Given the description of an element on the screen output the (x, y) to click on. 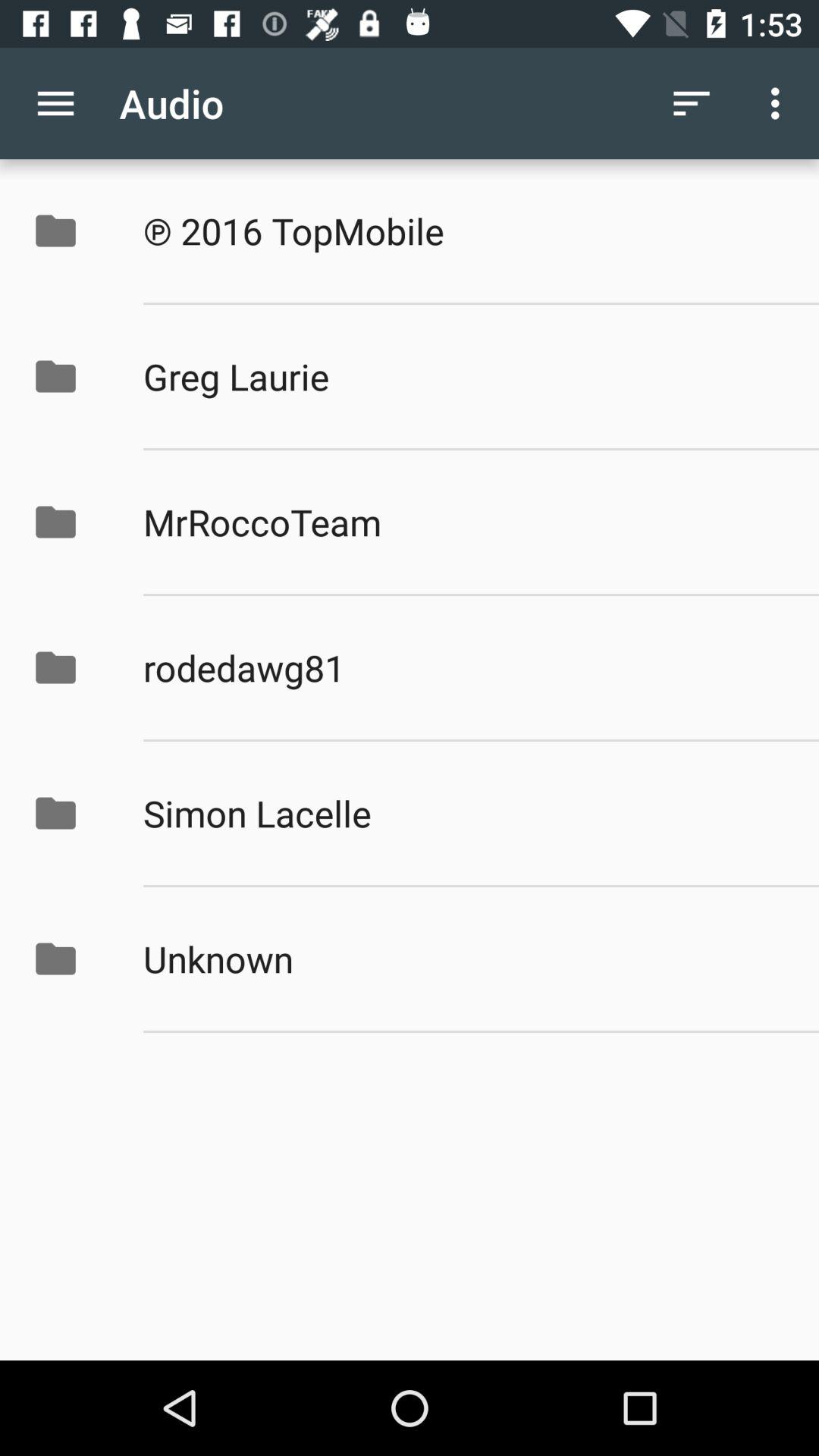
click greg laurie icon (465, 376)
